Given the description of an element on the screen output the (x, y) to click on. 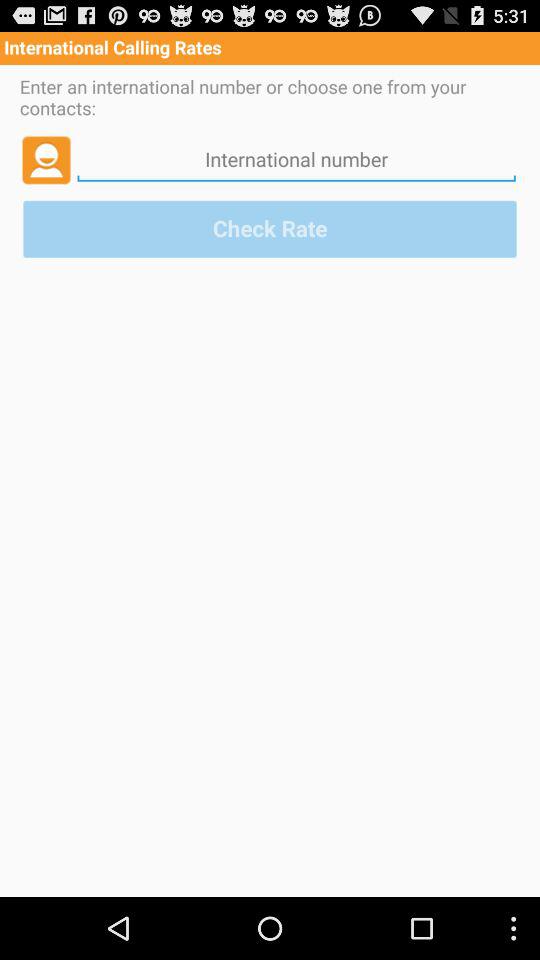
choose icon below the enter an international app (46, 159)
